Given the description of an element on the screen output the (x, y) to click on. 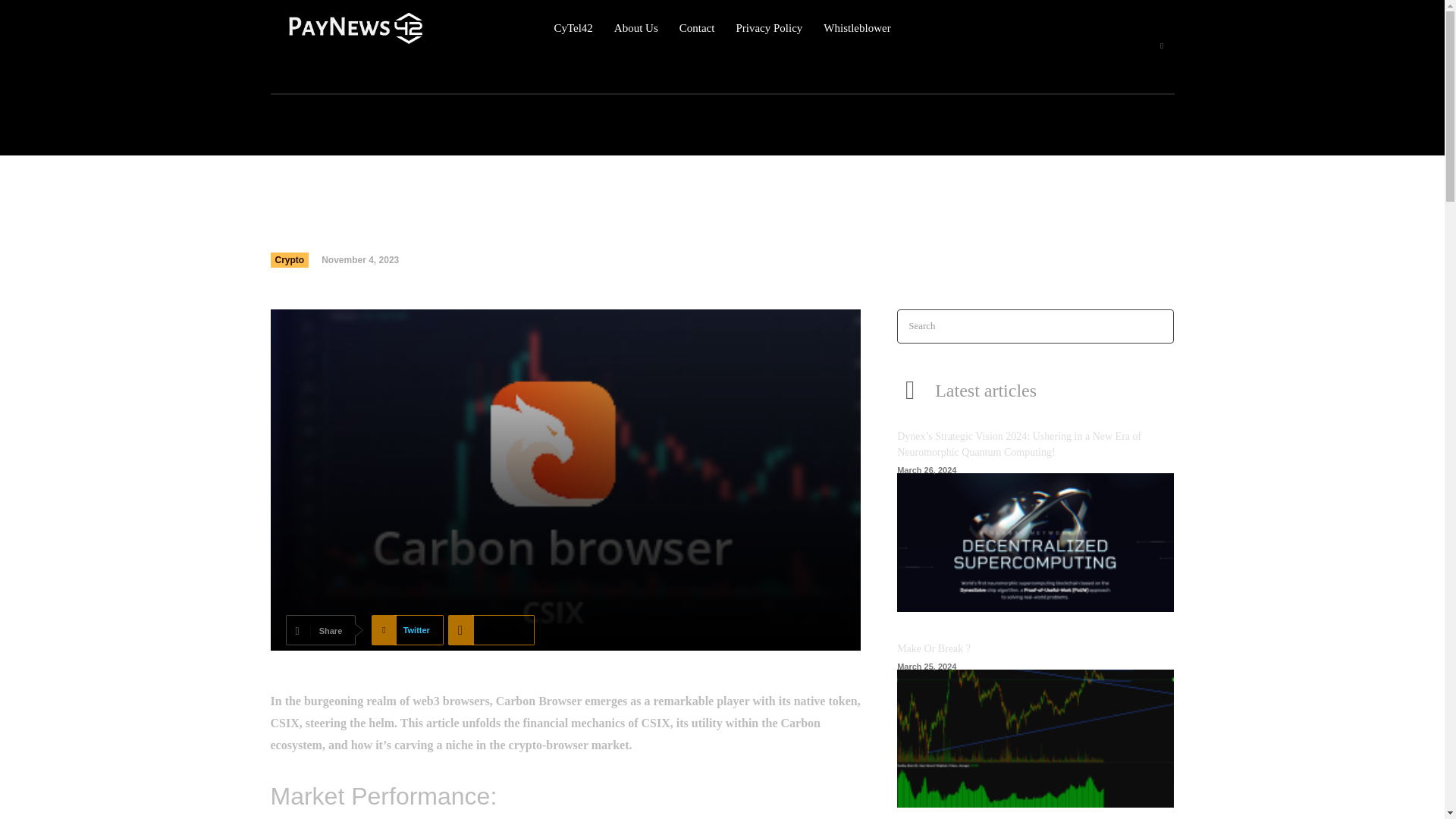
Make Or Break ? (1034, 738)
Twitter (407, 630)
Twitter (407, 630)
Twitter (1162, 46)
Crypto (288, 259)
Privacy Policy (768, 28)
Make Or Break ? (933, 648)
Whistleblower (856, 28)
Copy URL (491, 630)
Make Or Break ? (933, 648)
Copy URL (491, 630)
